Given the description of an element on the screen output the (x, y) to click on. 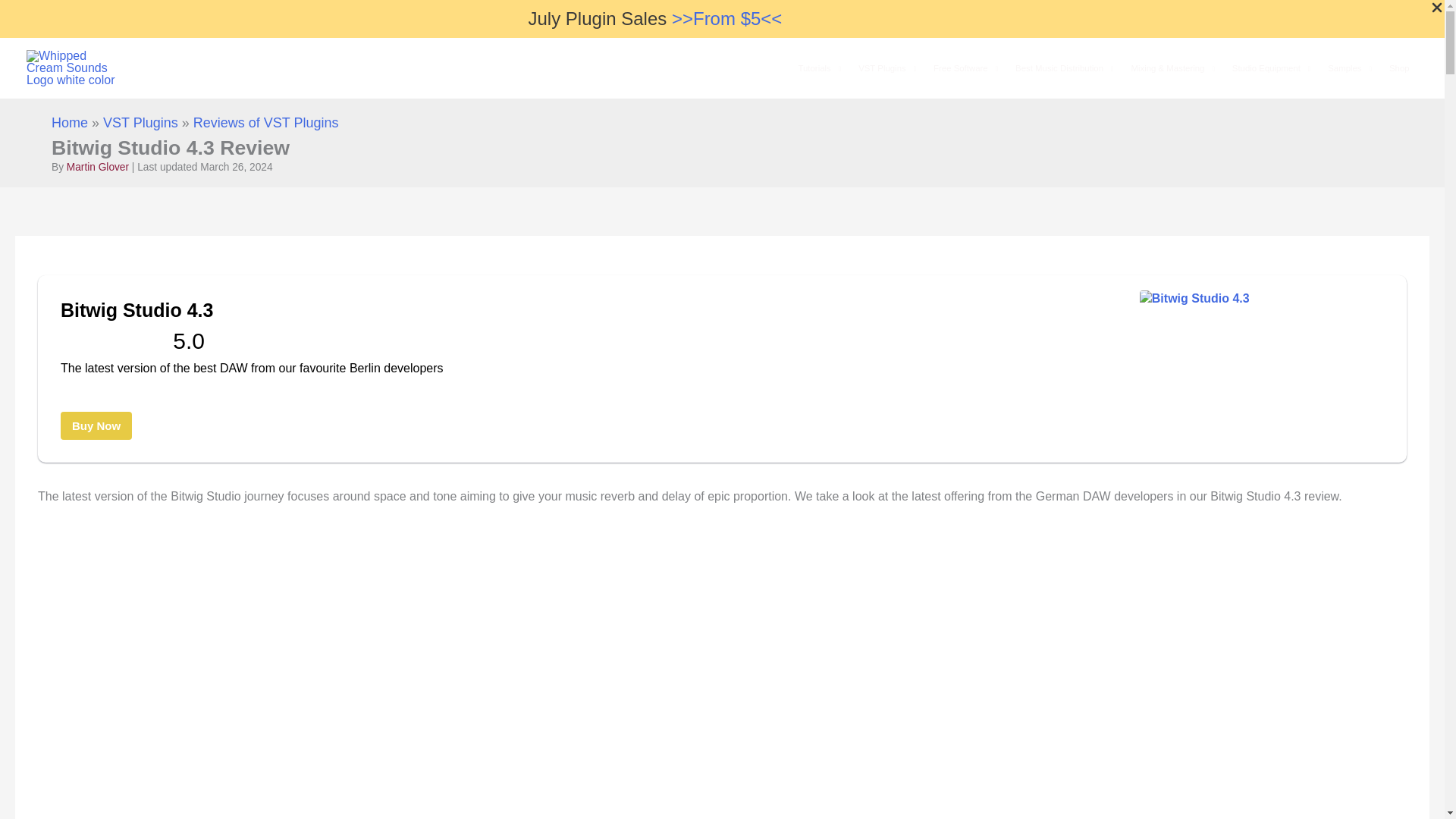
Bitwig Studio 4.3 (1194, 348)
Free Software (965, 68)
VST Plugins (887, 68)
Posts by Martin Glover (97, 166)
Bitwig Studio 4.3 (521, 310)
Bitwig Studio 4.3 (96, 425)
Tutorials (819, 68)
